Given the description of an element on the screen output the (x, y) to click on. 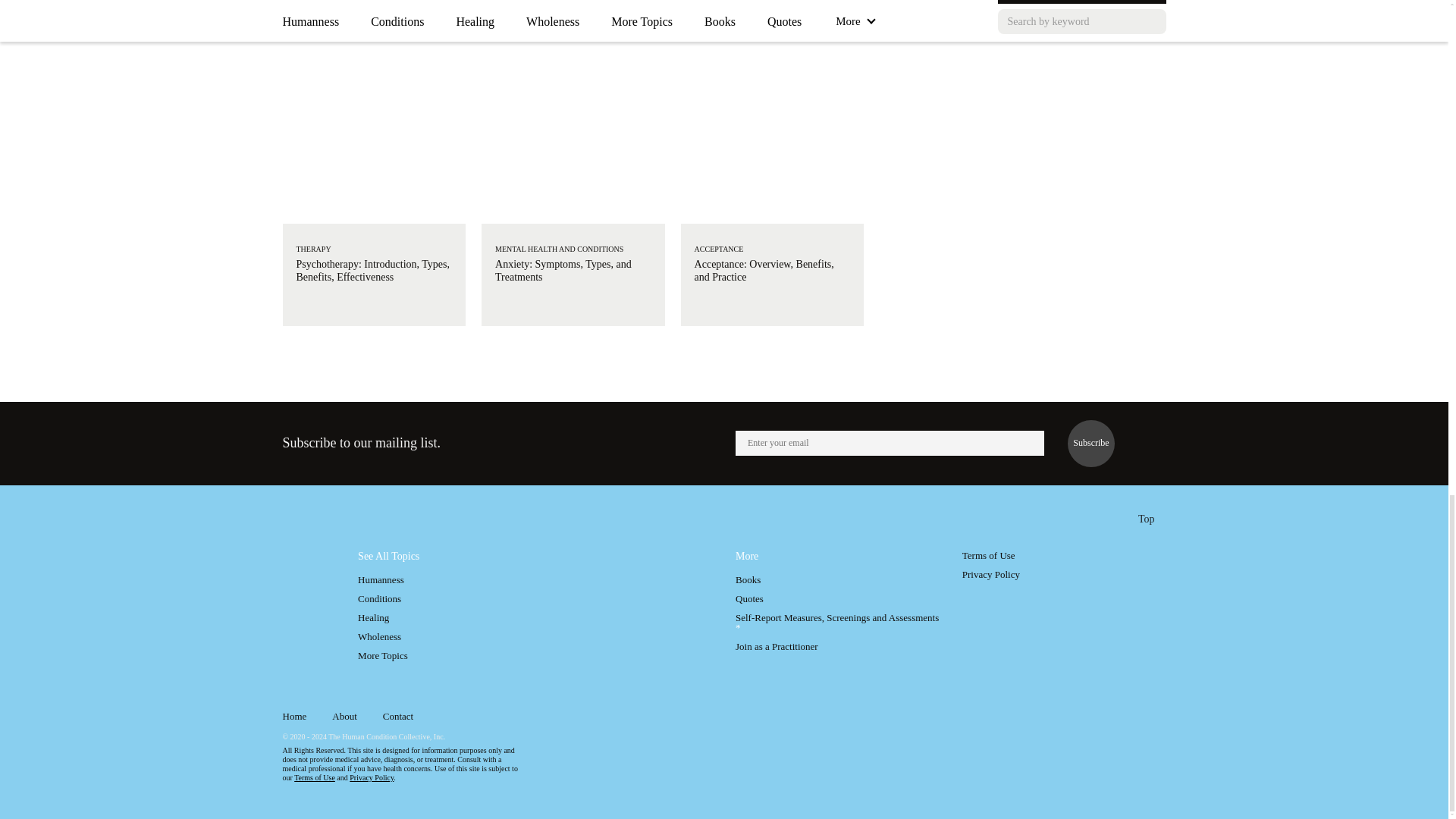
Subscribe (1091, 443)
Instagram (1120, 719)
Instagram (1120, 717)
